Given the description of an element on the screen output the (x, y) to click on. 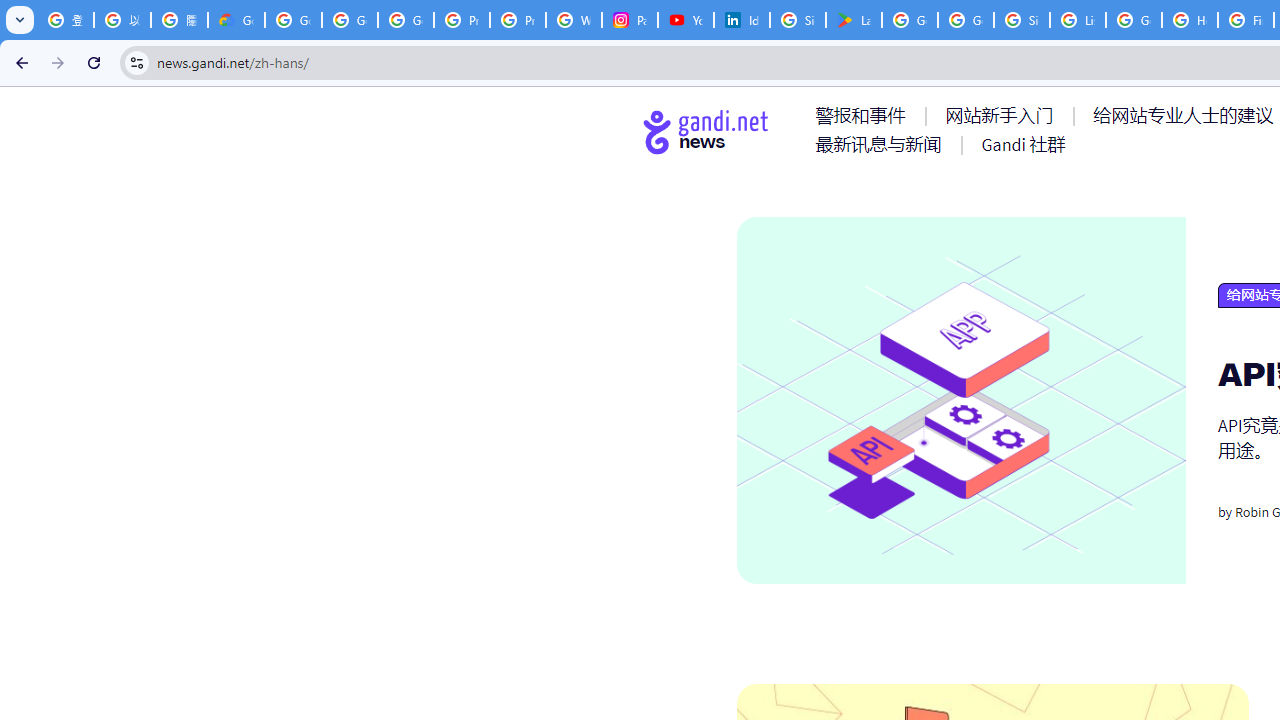
Last Shelter: Survival - Apps on Google Play (853, 20)
YouTube Culture & Trends - On The Rise: Handcam Videos (685, 20)
AutomationID: menu-item-77767 (1022, 143)
Privacy Help Center - Policies Help (461, 20)
